Given the description of an element on the screen output the (x, y) to click on. 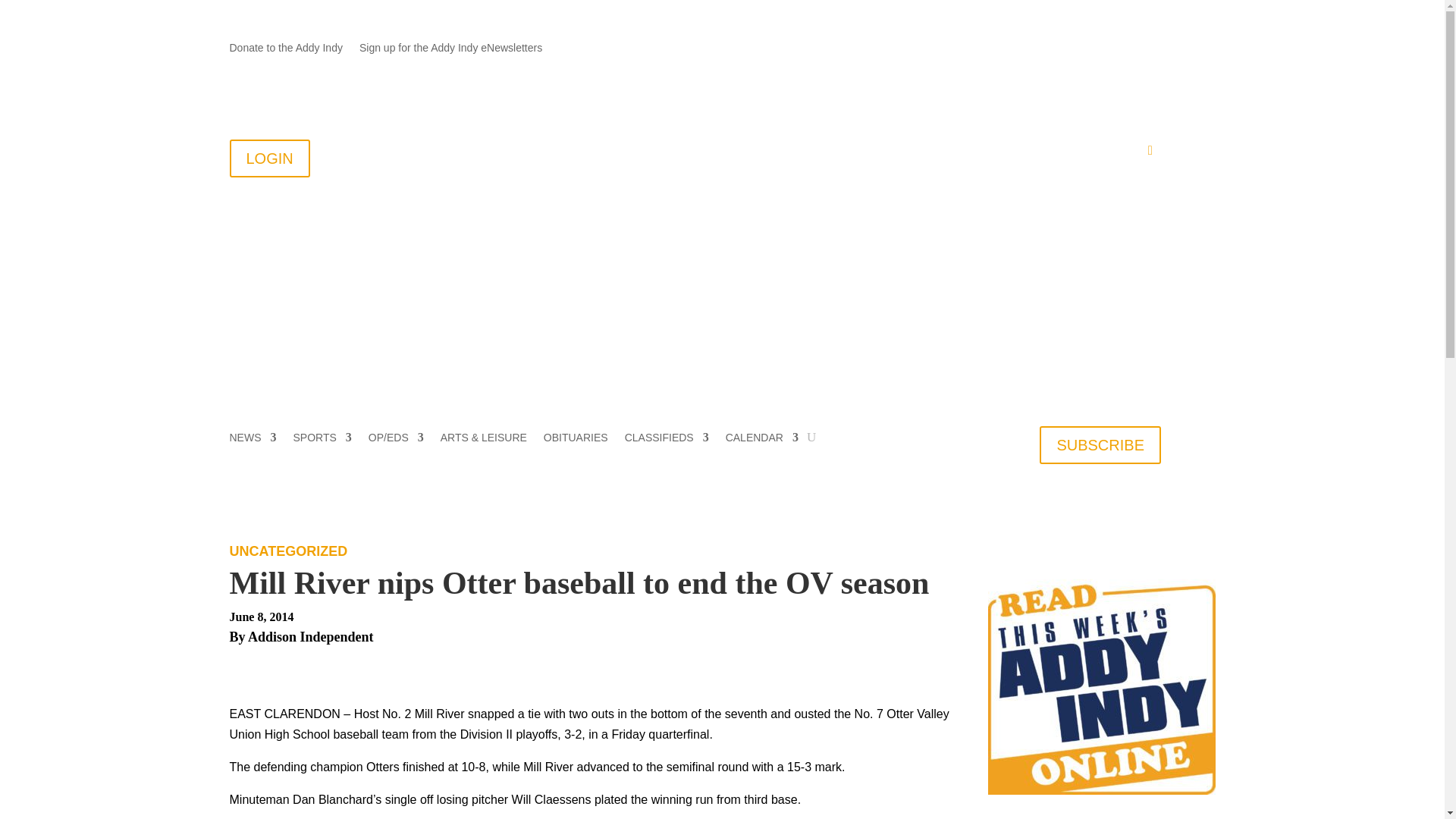
Sign up for the Addy Indy eNewsletters (450, 50)
addison-logo (418, 240)
My Account (1111, 153)
Follow on Instagram (1148, 48)
Contact (653, 153)
Submissions (860, 153)
Donate to the Addy Indy (285, 50)
Advertise (944, 153)
NEWS (252, 440)
About (590, 153)
Follow on Facebook (1087, 48)
Follow on X (1118, 48)
LOGIN (268, 158)
Join the Addy All-Stars! (751, 153)
PDF Editions (1029, 153)
